Given the description of an element on the screen output the (x, y) to click on. 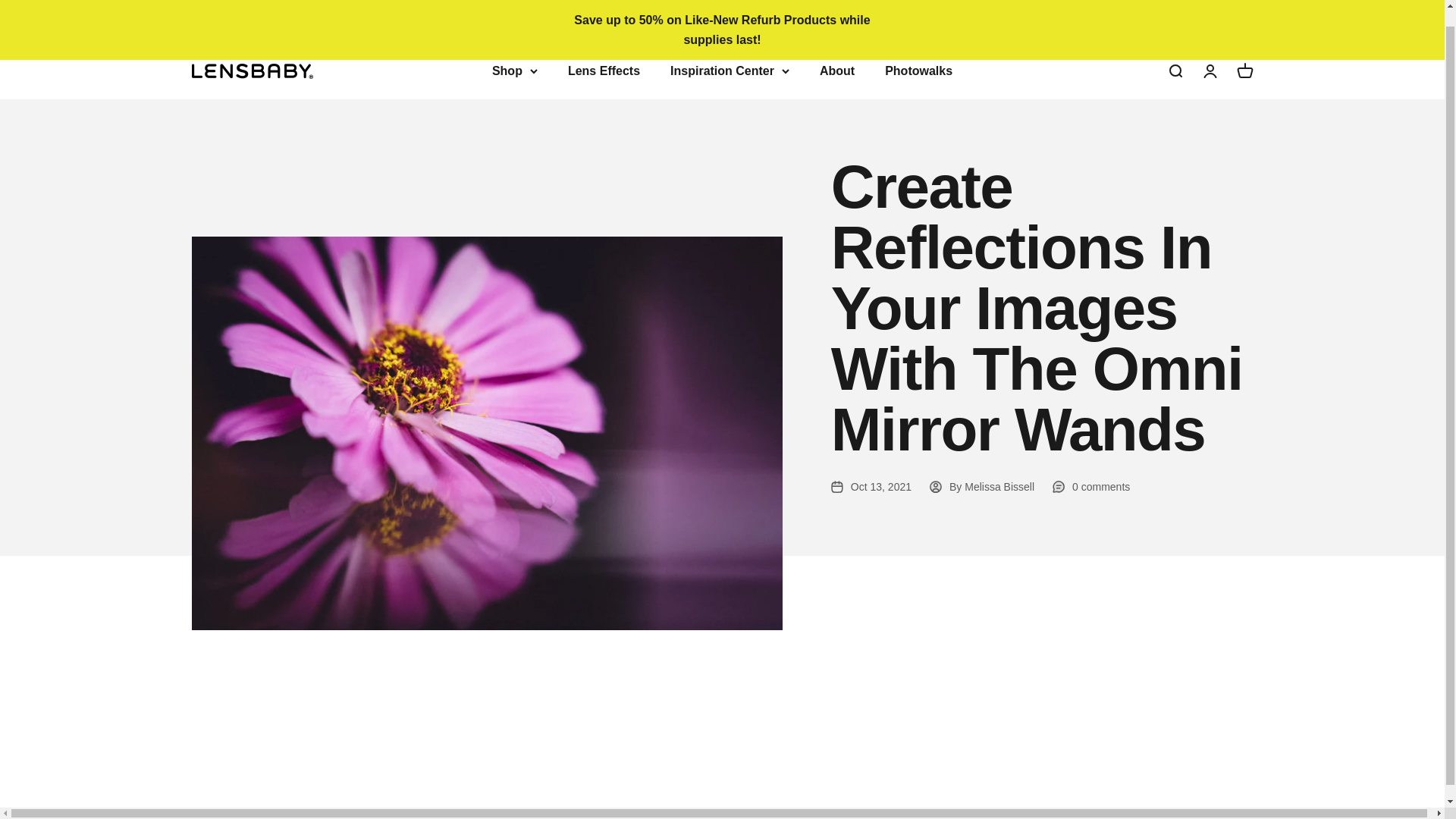
Open search (1174, 71)
0 comments (1090, 486)
Lens Effects (603, 70)
About (836, 70)
Photowalks (918, 70)
Lensbaby (251, 70)
Open account page (1209, 71)
Open cart (1244, 71)
